Given the description of an element on the screen output the (x, y) to click on. 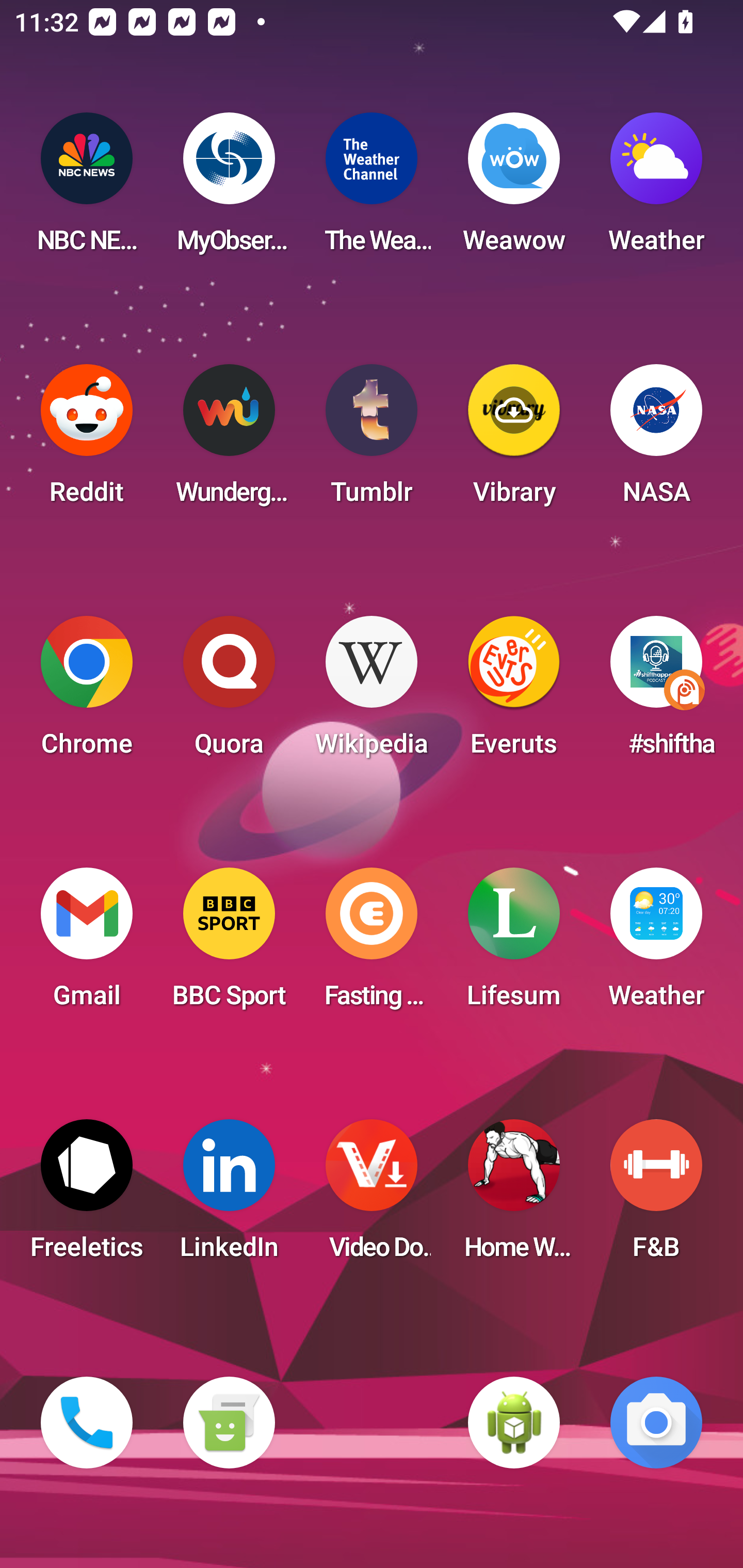
NBC NEWS (86, 188)
MyObservatory (228, 188)
The Weather Channel (371, 188)
Weawow (513, 188)
Weather (656, 188)
Reddit (86, 440)
Wunderground (228, 440)
Tumblr (371, 440)
Vibrary (513, 440)
NASA (656, 440)
Chrome (86, 692)
Quora (228, 692)
Wikipedia (371, 692)
Everuts (513, 692)
#shifthappens in the Digital Workplace Podcast (656, 692)
Gmail (86, 943)
BBC Sport (228, 943)
Fasting Coach (371, 943)
Lifesum (513, 943)
Weather (656, 943)
Freeletics (86, 1195)
LinkedIn (228, 1195)
Video Downloader & Ace Player (371, 1195)
Home Workout (513, 1195)
F&B (656, 1195)
Phone (86, 1422)
Messaging (228, 1422)
WebView Browser Tester (513, 1422)
Camera (656, 1422)
